Given the description of an element on the screen output the (x, y) to click on. 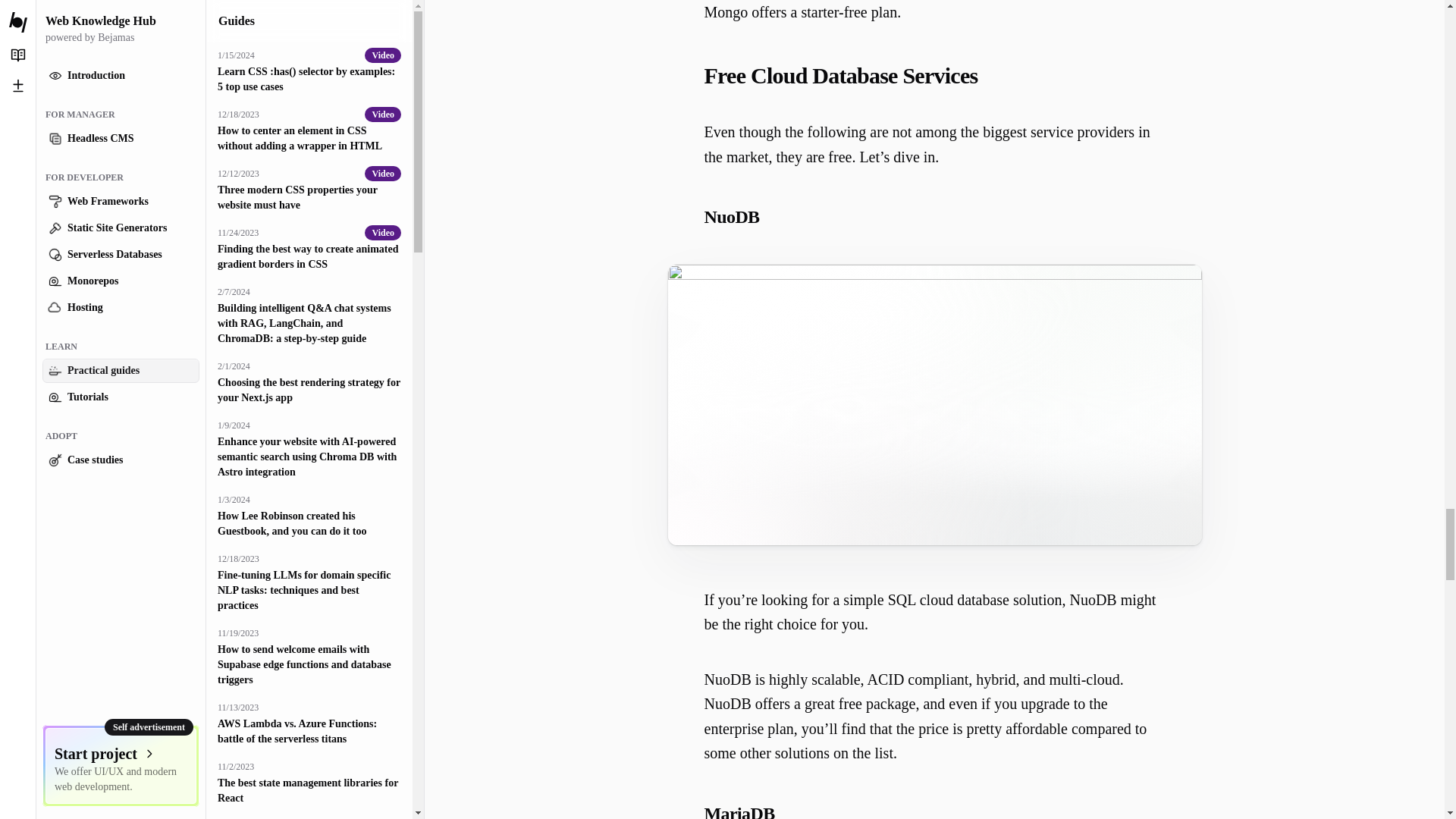
MariaDB (933, 810)
NuoDB (933, 216)
Free Cloud Database Services (933, 75)
